Given the description of an element on the screen output the (x, y) to click on. 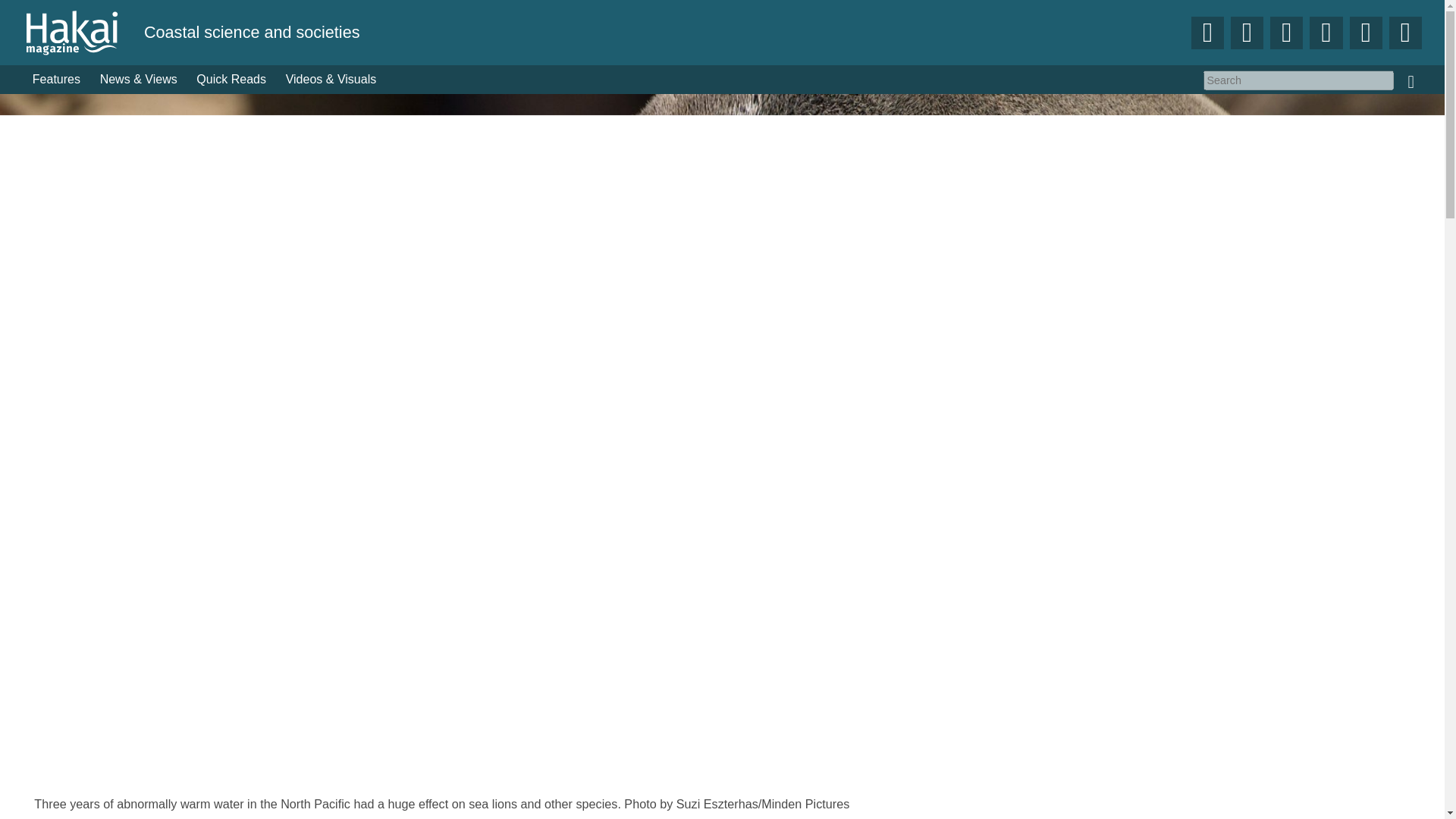
Features (56, 79)
Quick Reads (231, 79)
Hakai Magazine (83, 32)
Search for: (1298, 80)
